Given the description of an element on the screen output the (x, y) to click on. 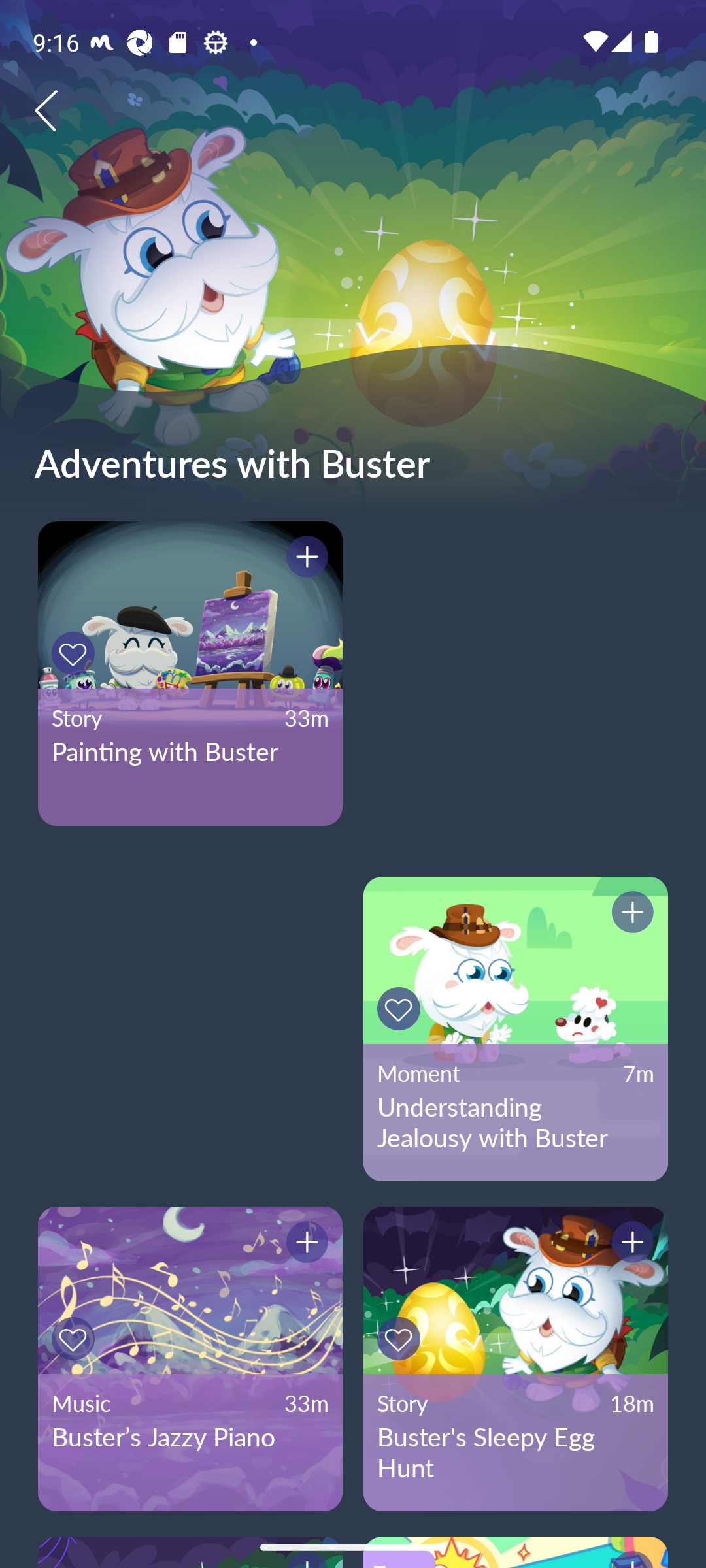
Button (304, 558)
Button (76, 652)
Button (629, 914)
Button (401, 1008)
Button (304, 1244)
Button (629, 1244)
Button (76, 1338)
Button (401, 1338)
